Given the description of an element on the screen output the (x, y) to click on. 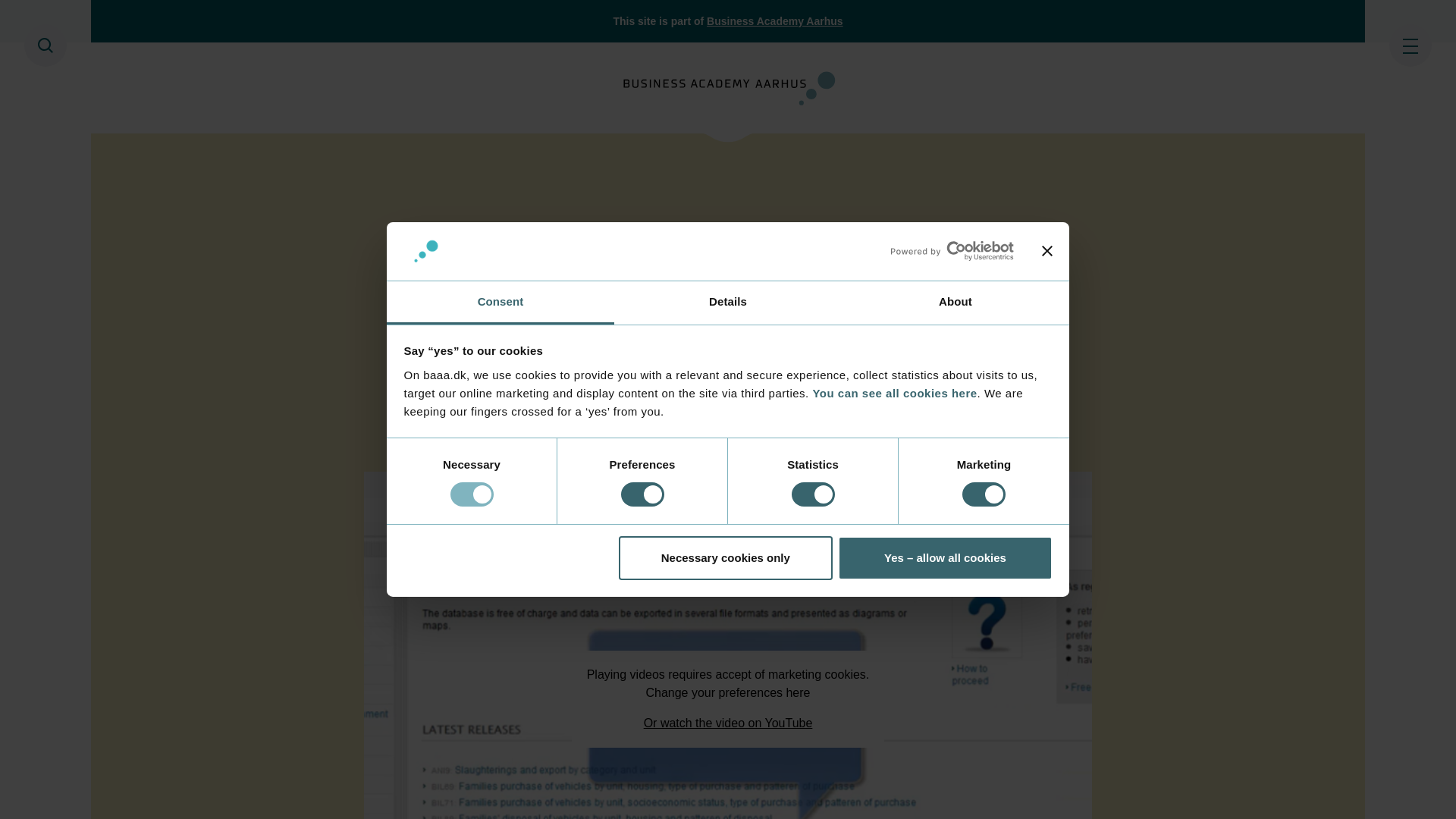
About (954, 302)
Open menu (1410, 45)
Search (45, 45)
Home (727, 87)
Details (727, 302)
Consent (500, 302)
Read about cookies and personal data policy on baaa.dk (894, 392)
You can see all cookies here (894, 392)
